Given the description of an element on the screen output the (x, y) to click on. 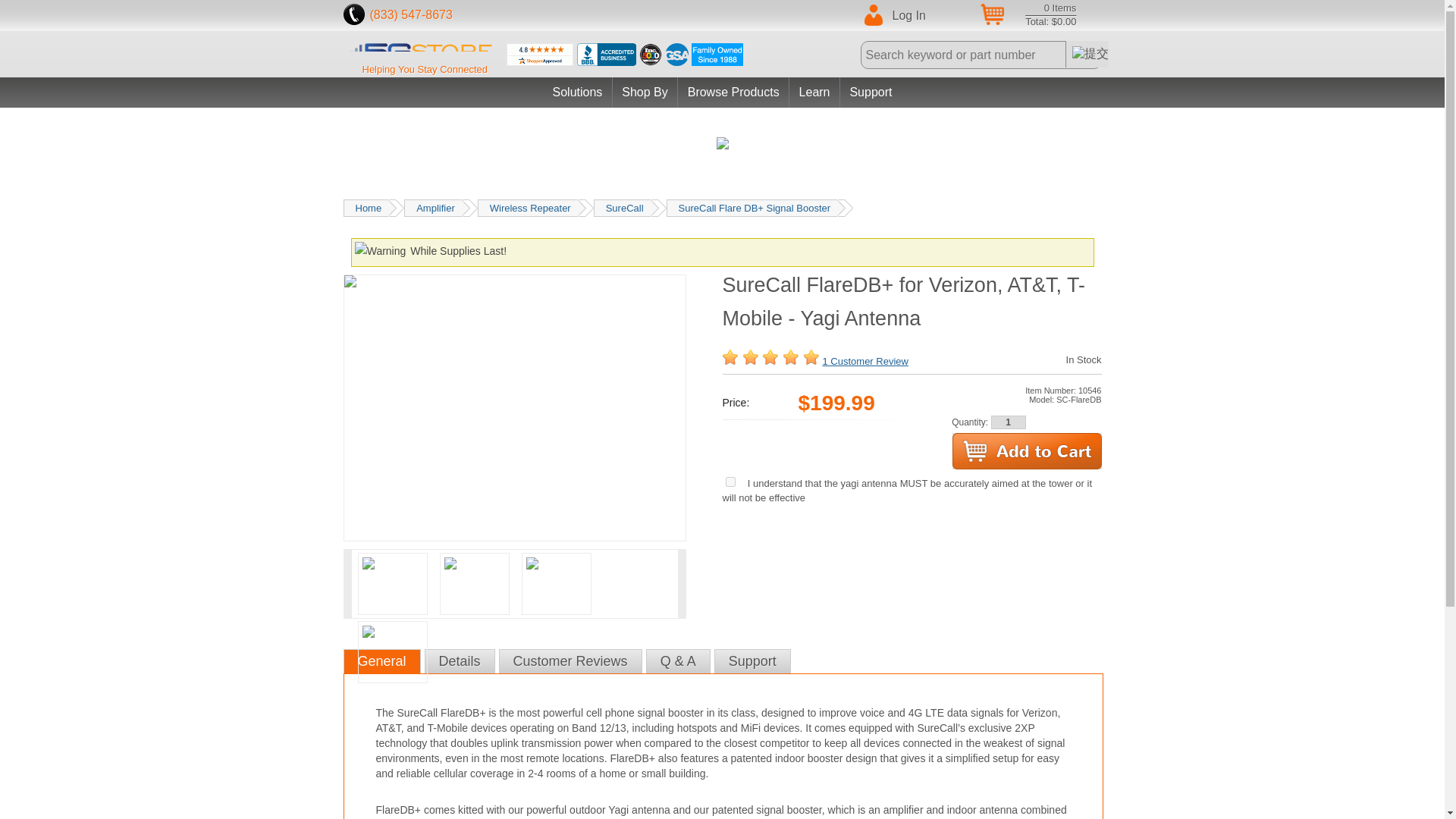
1 (1007, 422)
 Warning  (380, 251)
Helping You Stay Connected (428, 69)
Log In (909, 15)
View Cart (1028, 15)
 Add to Cart  (1027, 451)
1 (730, 481)
